Given the description of an element on the screen output the (x, y) to click on. 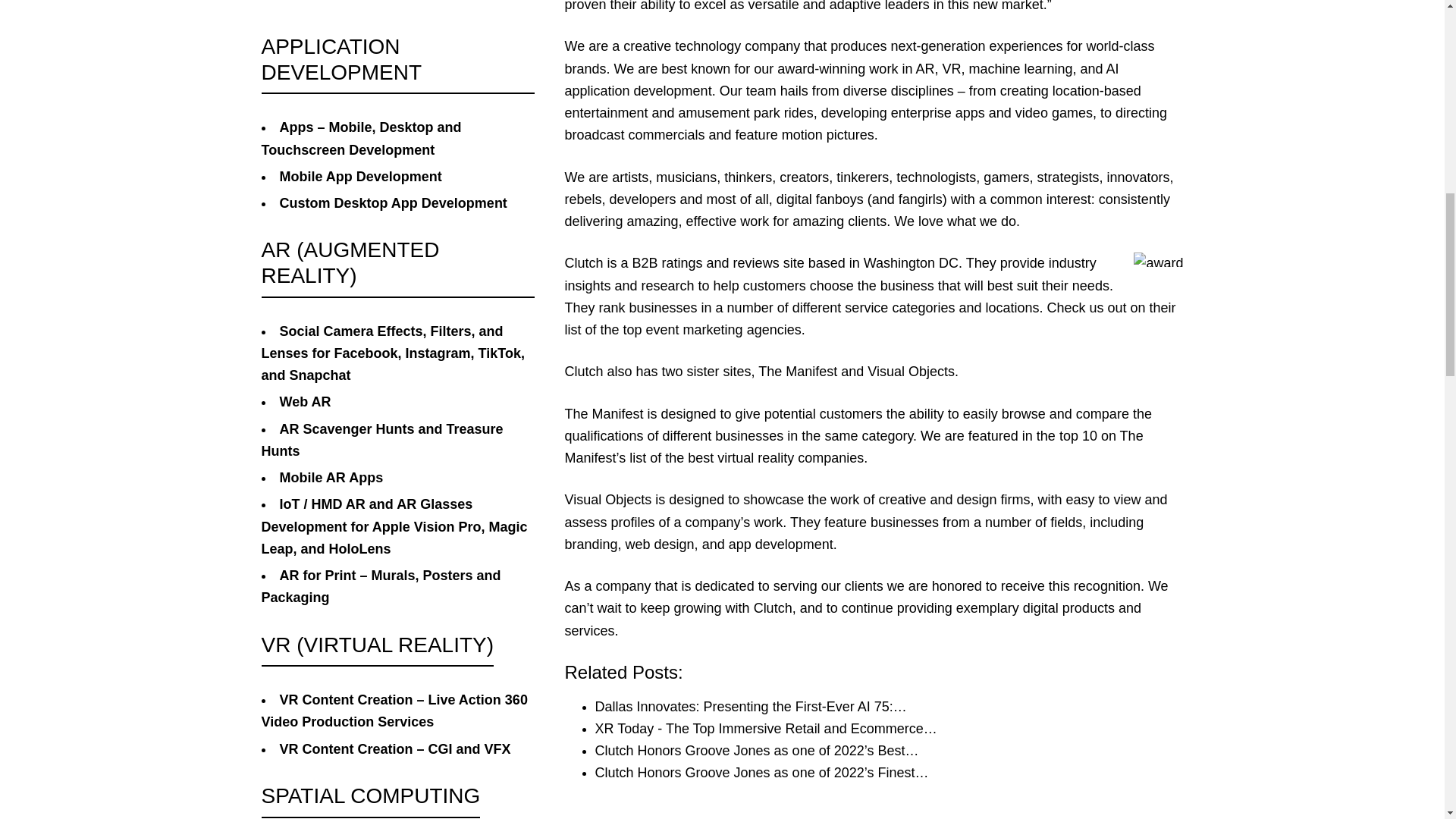
event marketing agencies (724, 329)
app development (780, 544)
AI application development (841, 79)
AR Scavenger Hunts and Treasure Hunts (381, 439)
Custom Desktop App Development (392, 202)
Mobile AR Apps (330, 477)
virtual reality companies (790, 458)
Mobile App Development (360, 176)
Web AR (304, 401)
